Given the description of an element on the screen output the (x, y) to click on. 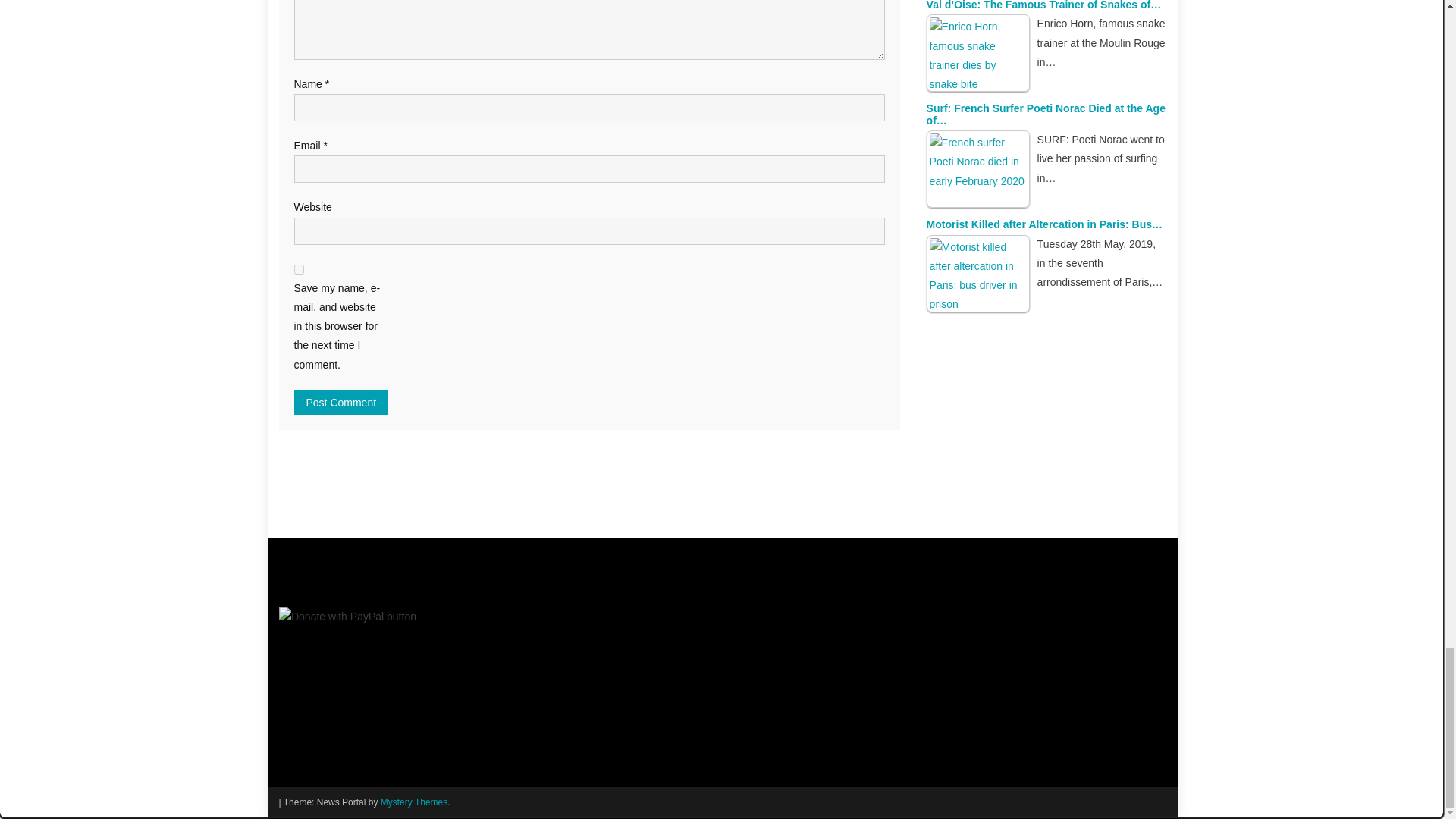
Post Comment (341, 401)
yes (299, 269)
